Given the description of an element on the screen output the (x, y) to click on. 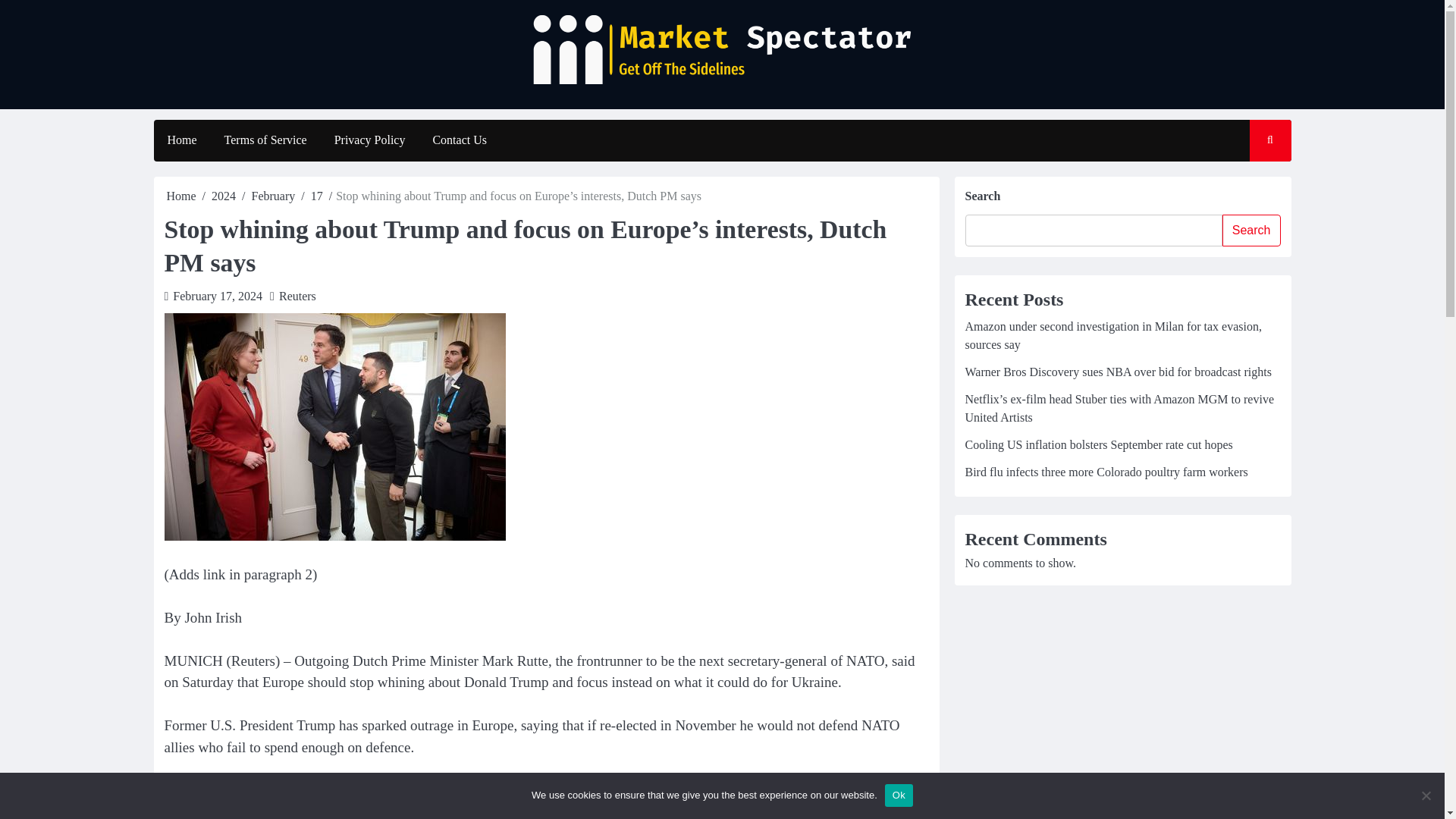
Terms of Service (265, 139)
Bird flu infects three more Colorado poultry farm workers (1105, 472)
Reuters (297, 295)
Search (1256, 184)
2024 (223, 195)
17 (317, 195)
Privacy Policy (369, 139)
Ok (898, 794)
February 17, 2024 (217, 295)
Search (1252, 230)
Cooling US inflation bolsters September rate cut hopes (1097, 444)
Home (181, 195)
Warner Bros Discovery sues NBA over bid for broadcast rights (1117, 371)
Home (180, 139)
